Given the description of an element on the screen output the (x, y) to click on. 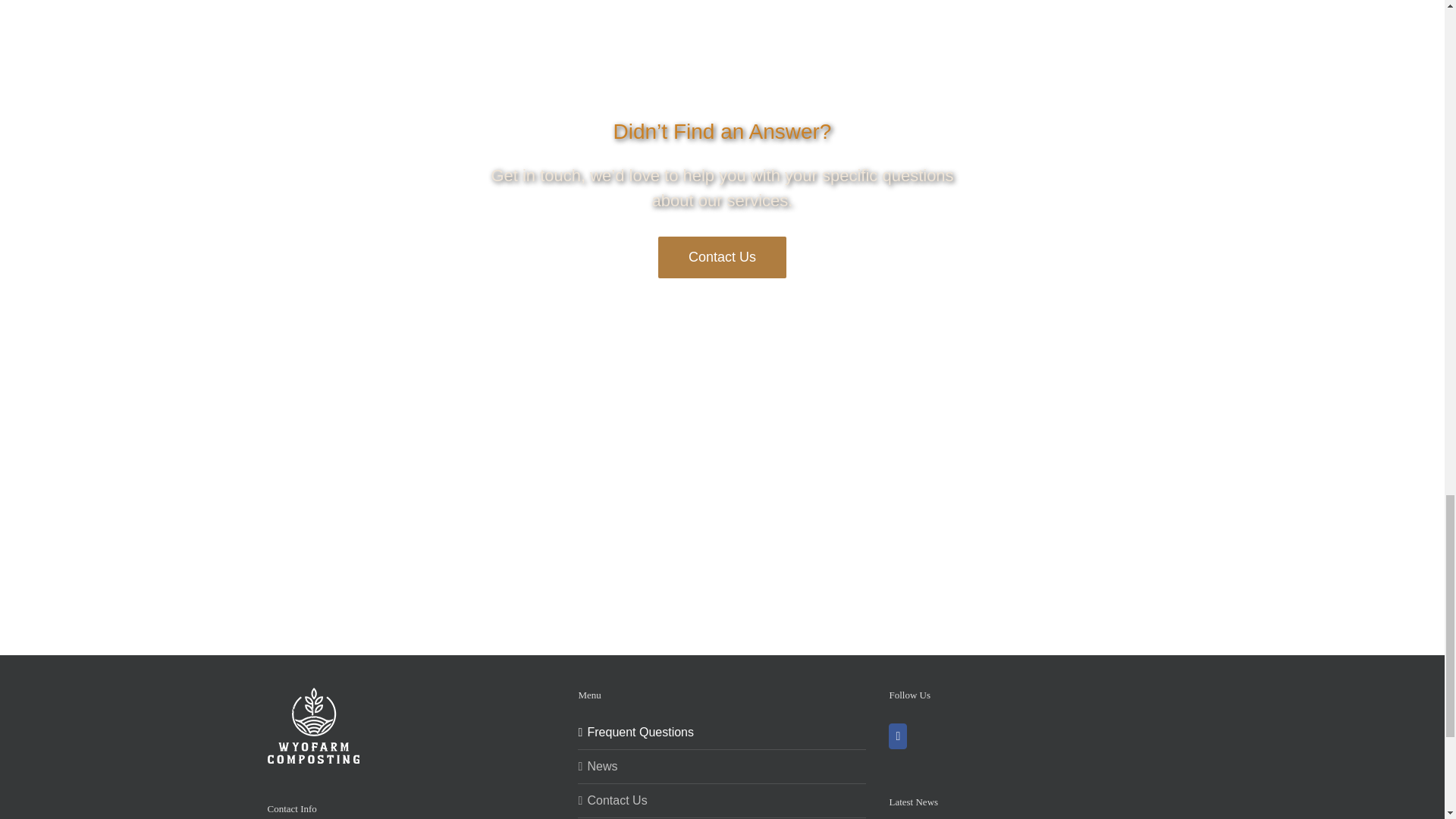
Frequent Questions (722, 732)
Contact Us (722, 800)
News (722, 766)
Contact Us (722, 257)
